Given the description of an element on the screen output the (x, y) to click on. 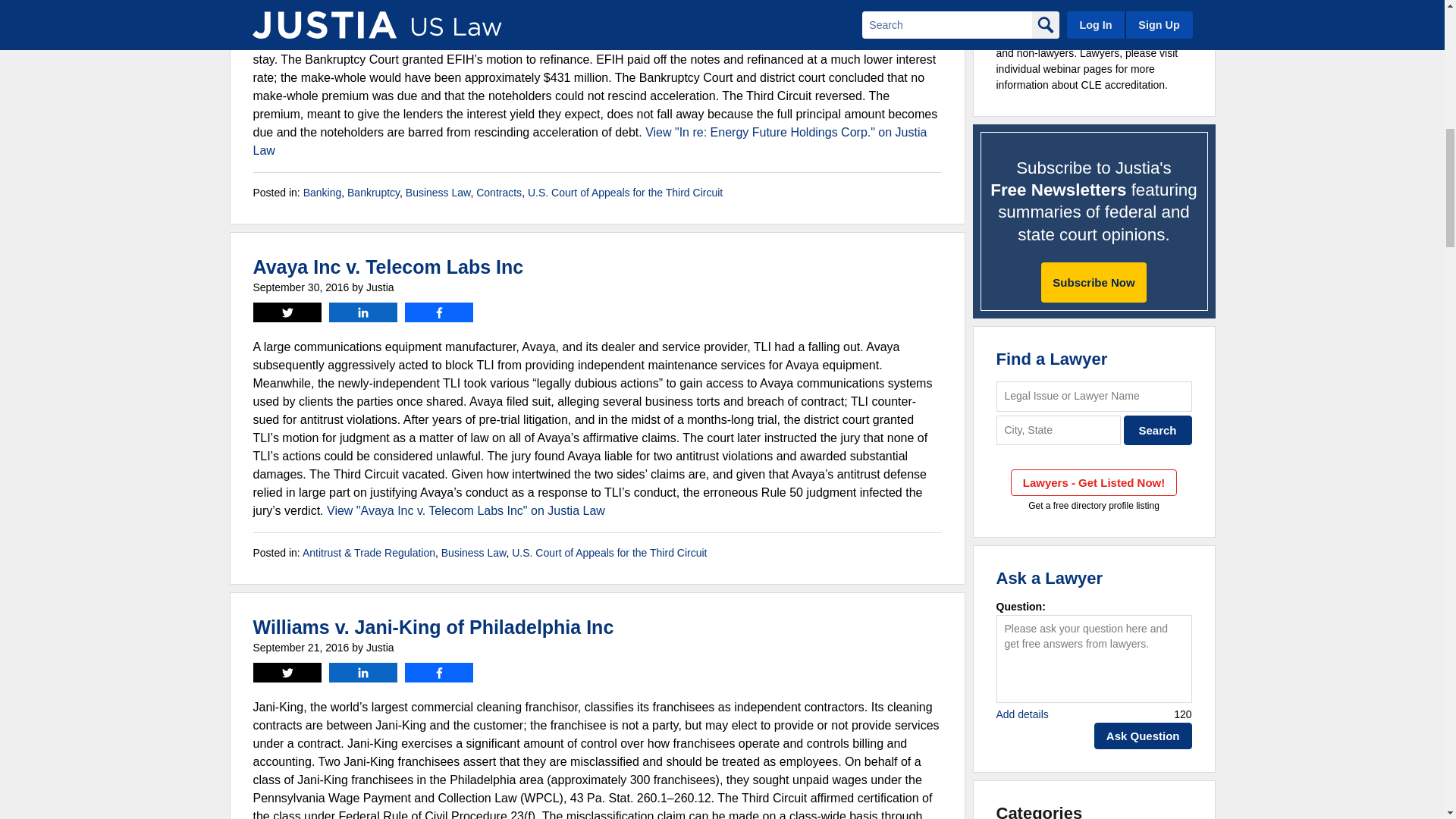
View all posts in Contracts (498, 192)
View all posts in Banking (322, 192)
Permalink to Avaya Inc v. Telecom Labs Inc (388, 266)
View all posts in Business Law (473, 552)
View all posts in Bankruptcy (372, 192)
Search (1158, 430)
View all posts in Business Law (438, 192)
Search (1158, 430)
